Given the description of an element on the screen output the (x, y) to click on. 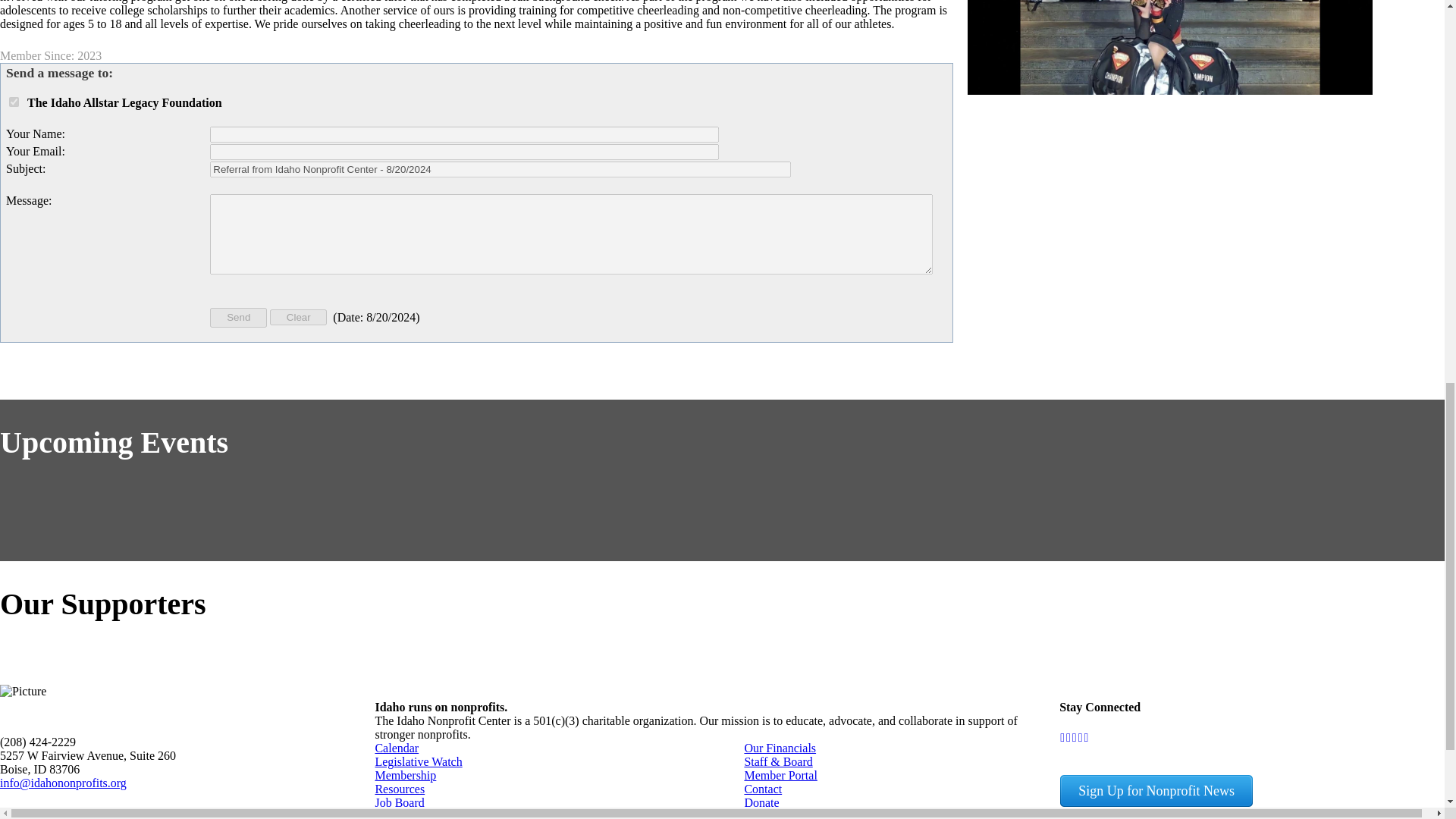
Clear (297, 317)
Send (237, 317)
You cannot change the Email Subject (499, 169)
on (13, 102)
